Given the description of an element on the screen output the (x, y) to click on. 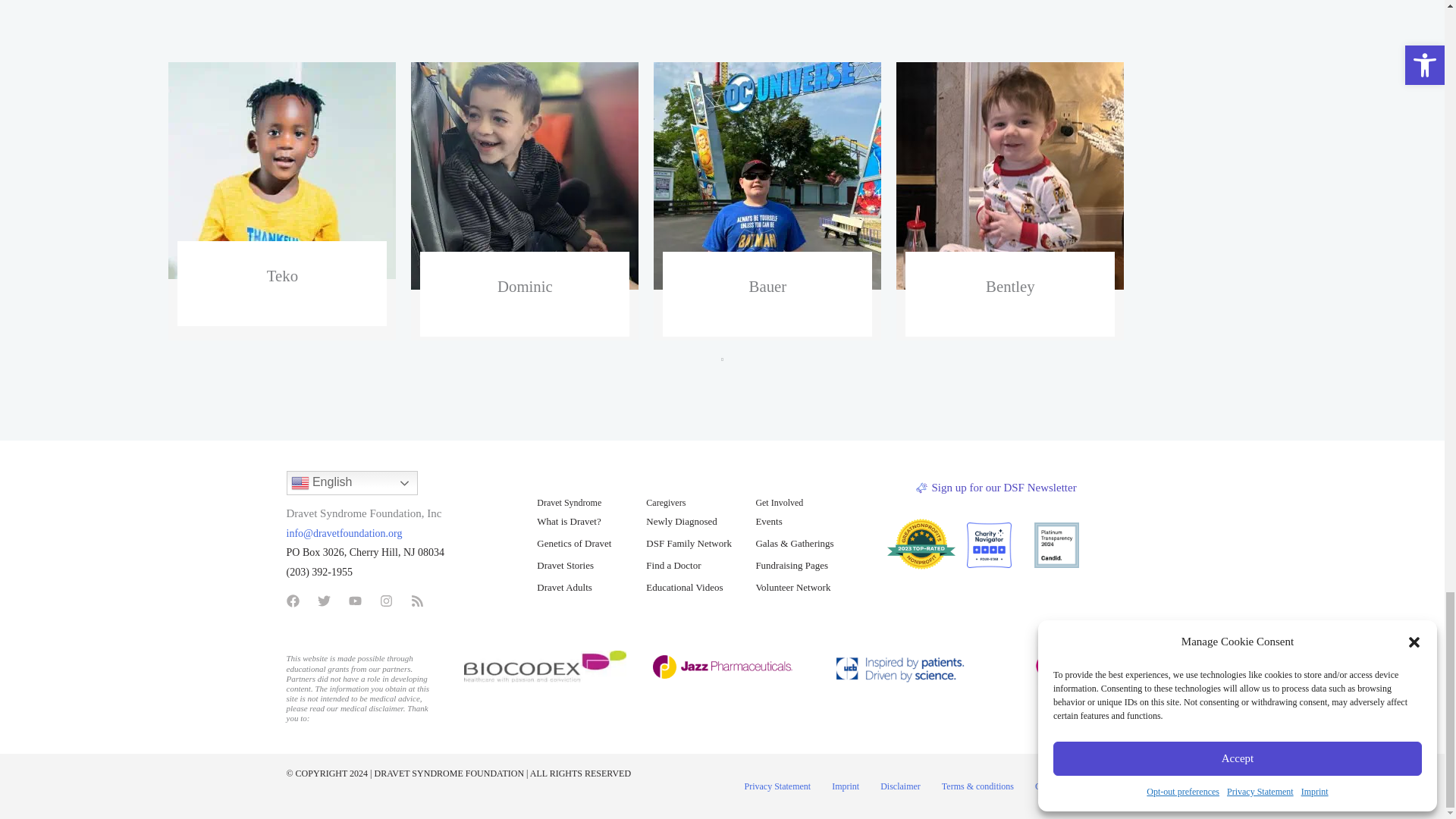
Bauer (766, 175)
Dominic (524, 175)
Teko (282, 170)
Bentley (1010, 175)
